Given the description of an element on the screen output the (x, y) to click on. 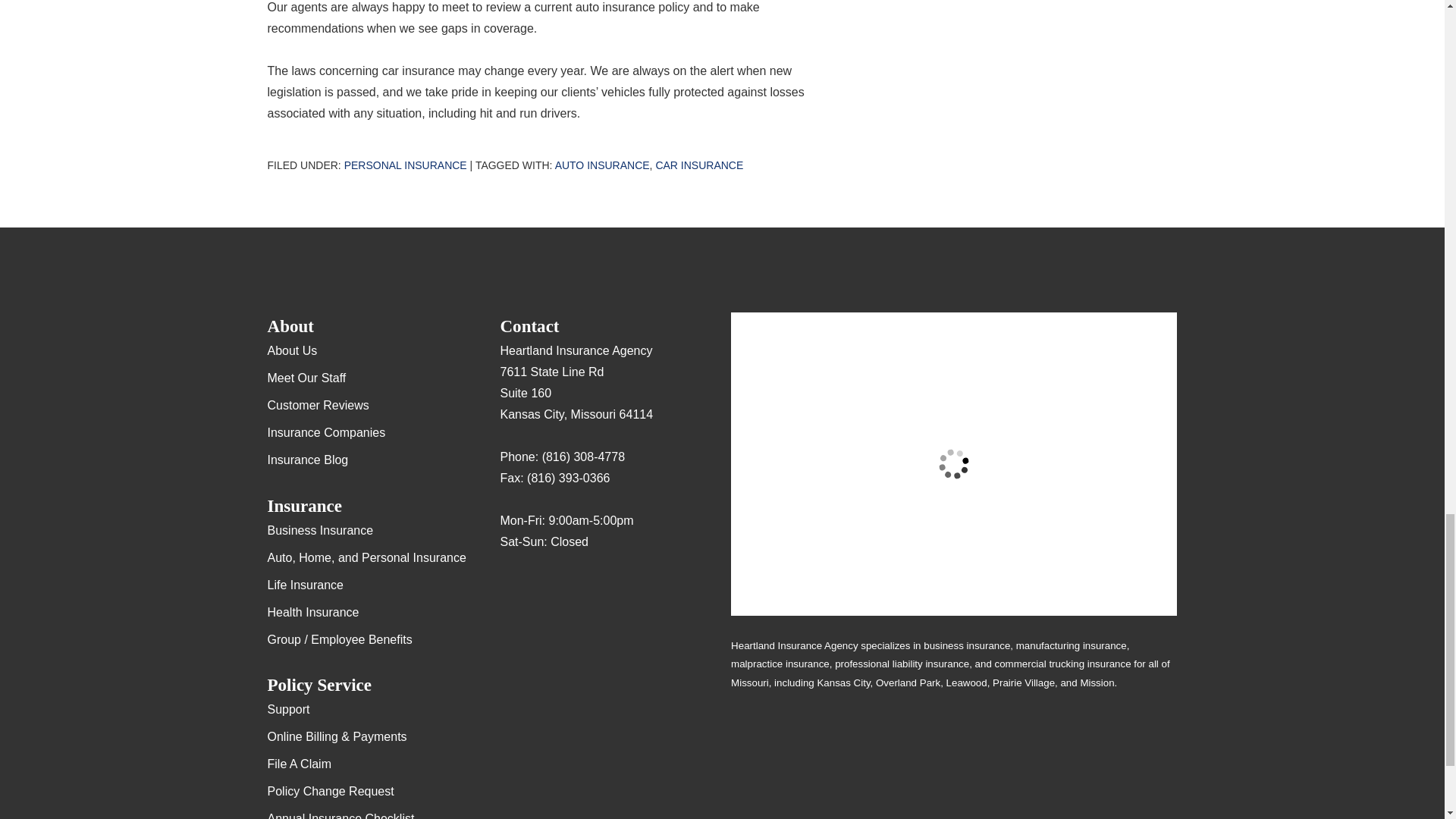
LinkedIn (600, 586)
Auto Insurance (601, 164)
Yelp (541, 586)
Car Insurance (698, 164)
Facebook (571, 586)
Google Maps (511, 586)
Personal Insurance (405, 164)
